Given the description of an element on the screen output the (x, y) to click on. 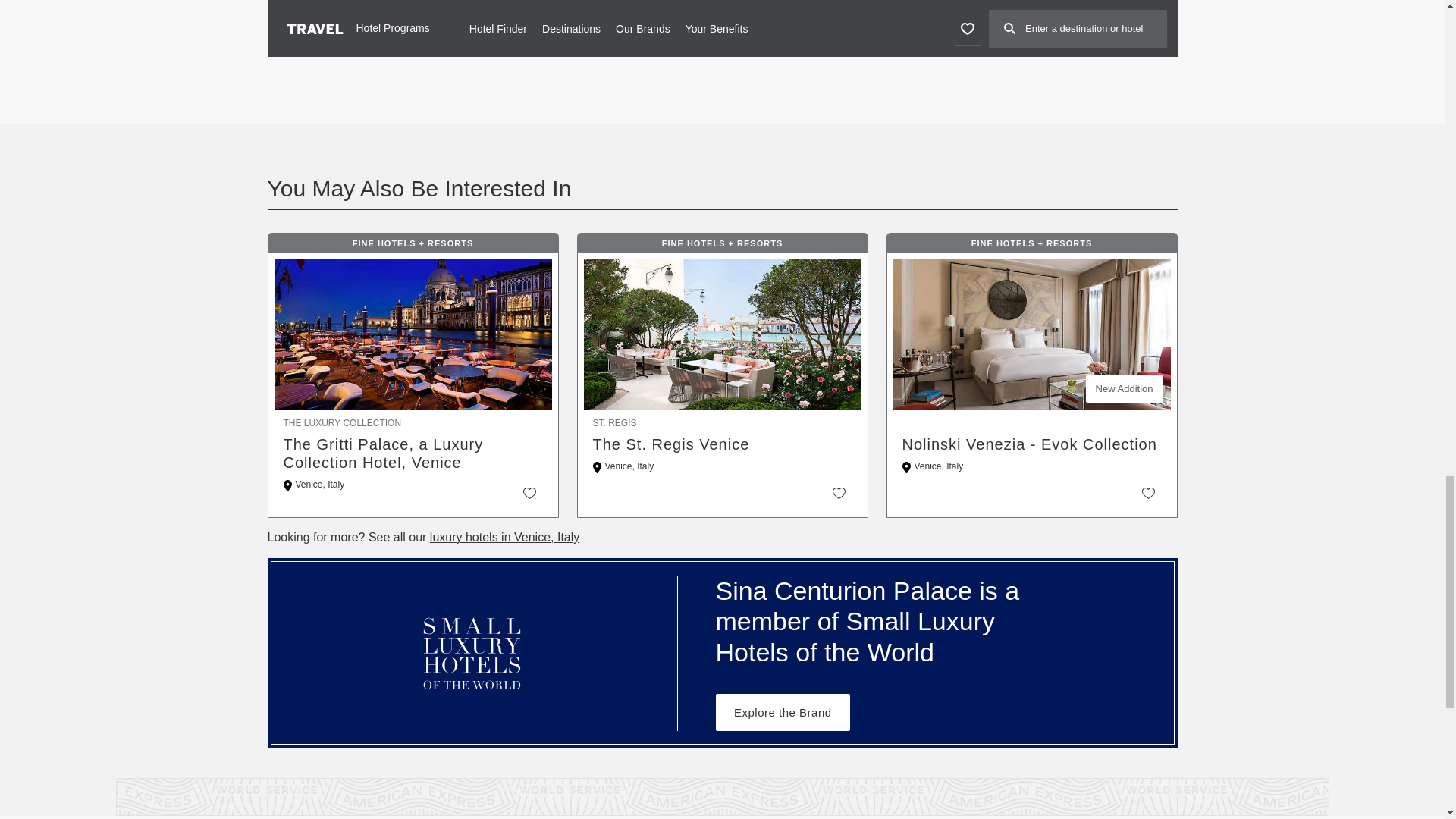
The St. Regis Venice (721, 443)
Explore the Brand (783, 712)
The Gritti Palace, a Luxury Collection Hotel, Venice (413, 452)
Nolinski Venezia - Evok Collection (1031, 443)
luxury hotels in Venice, Italy (504, 536)
